Given the description of an element on the screen output the (x, y) to click on. 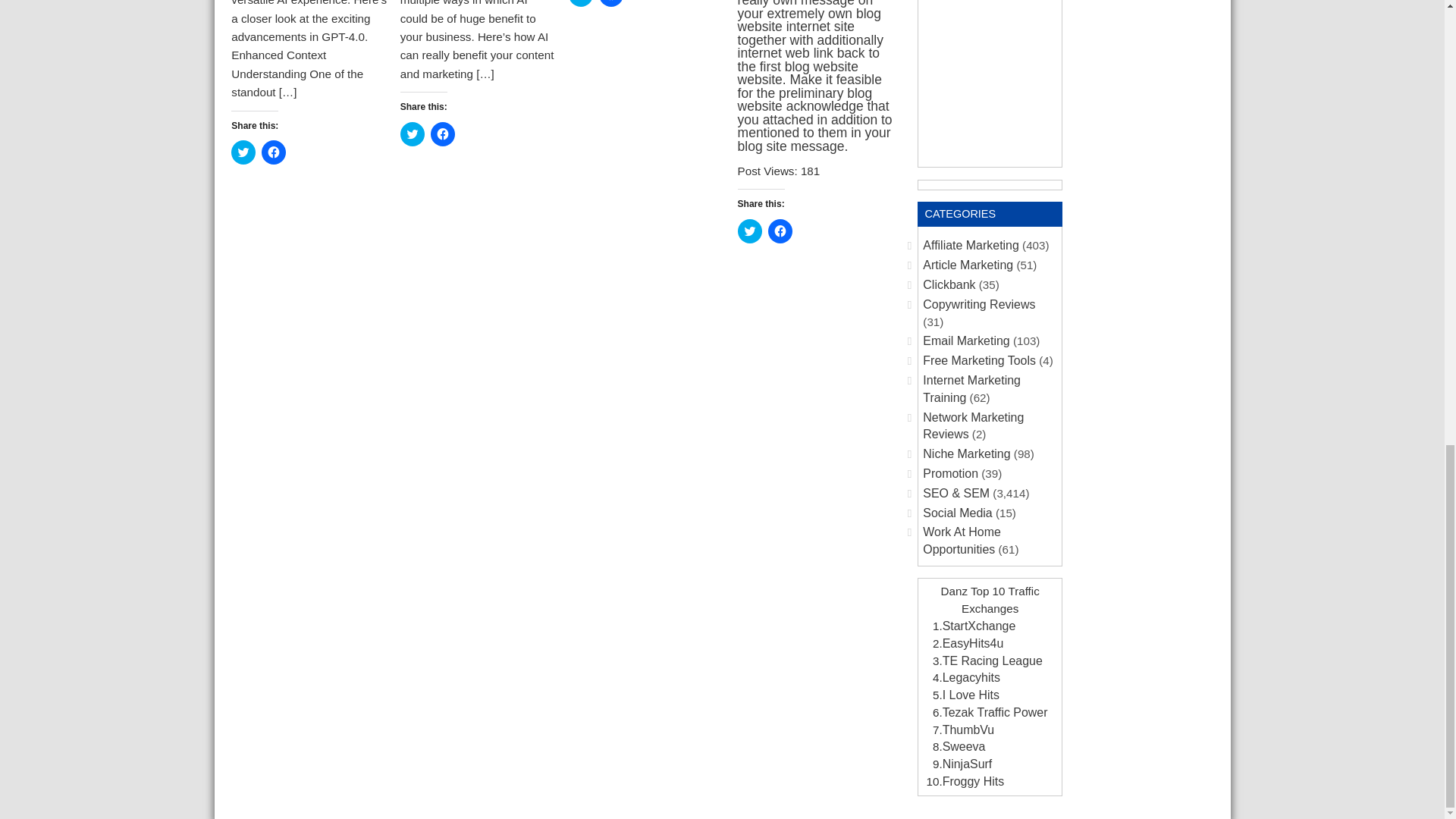
Internet Marketing Training (971, 388)
Click to share on Twitter (243, 152)
Copywriting Reviews (979, 304)
Email Marketing (966, 340)
Clickbank (949, 284)
Click to share on Facebook (610, 3)
Network Marketing Reviews (973, 426)
Click to share on Twitter (580, 3)
Niche Marketing (966, 453)
